Given the description of an element on the screen output the (x, y) to click on. 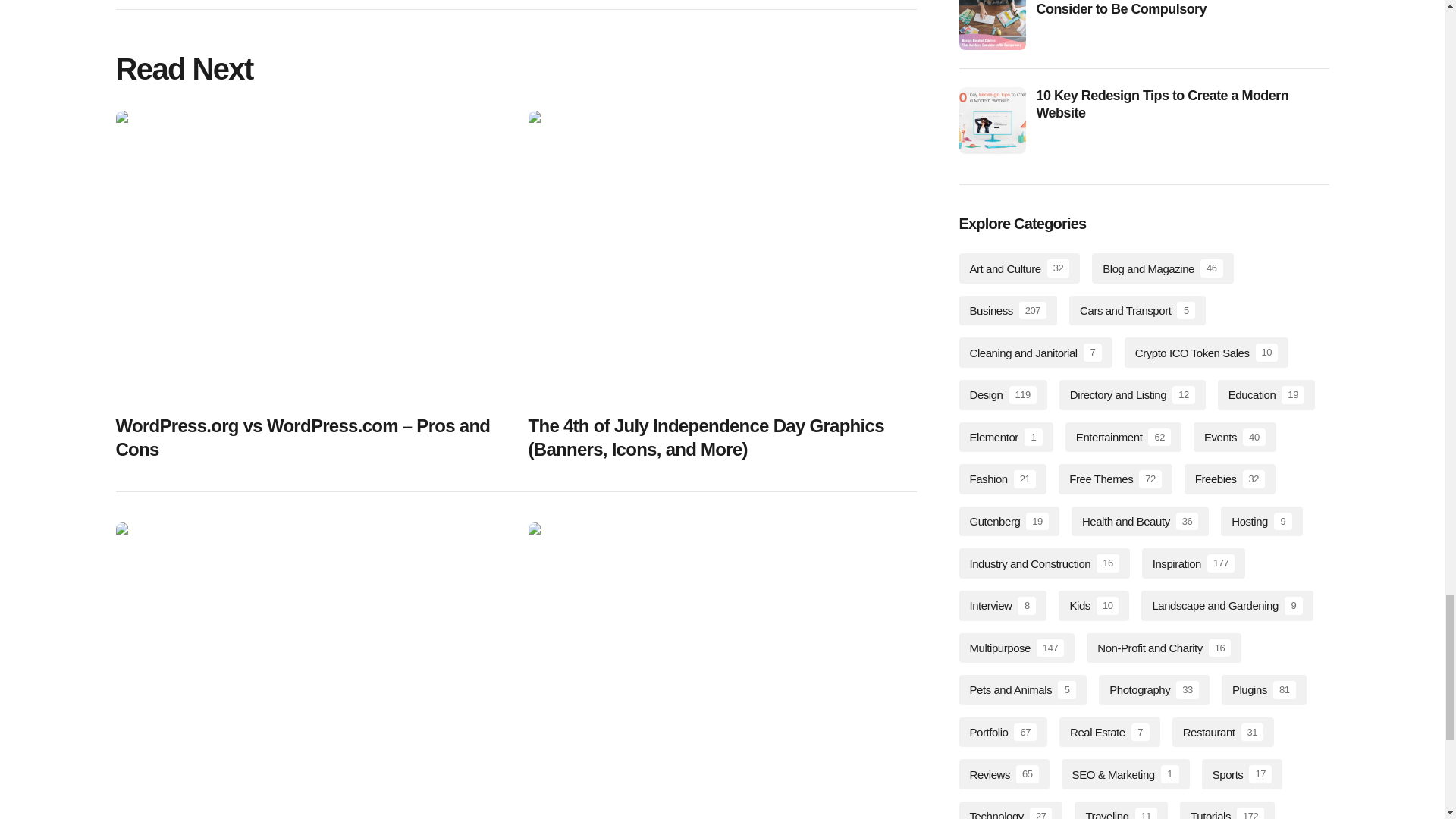
Most Recognized Job Boards For Ambitious Job Seekers (721, 668)
